Given the description of an element on the screen output the (x, y) to click on. 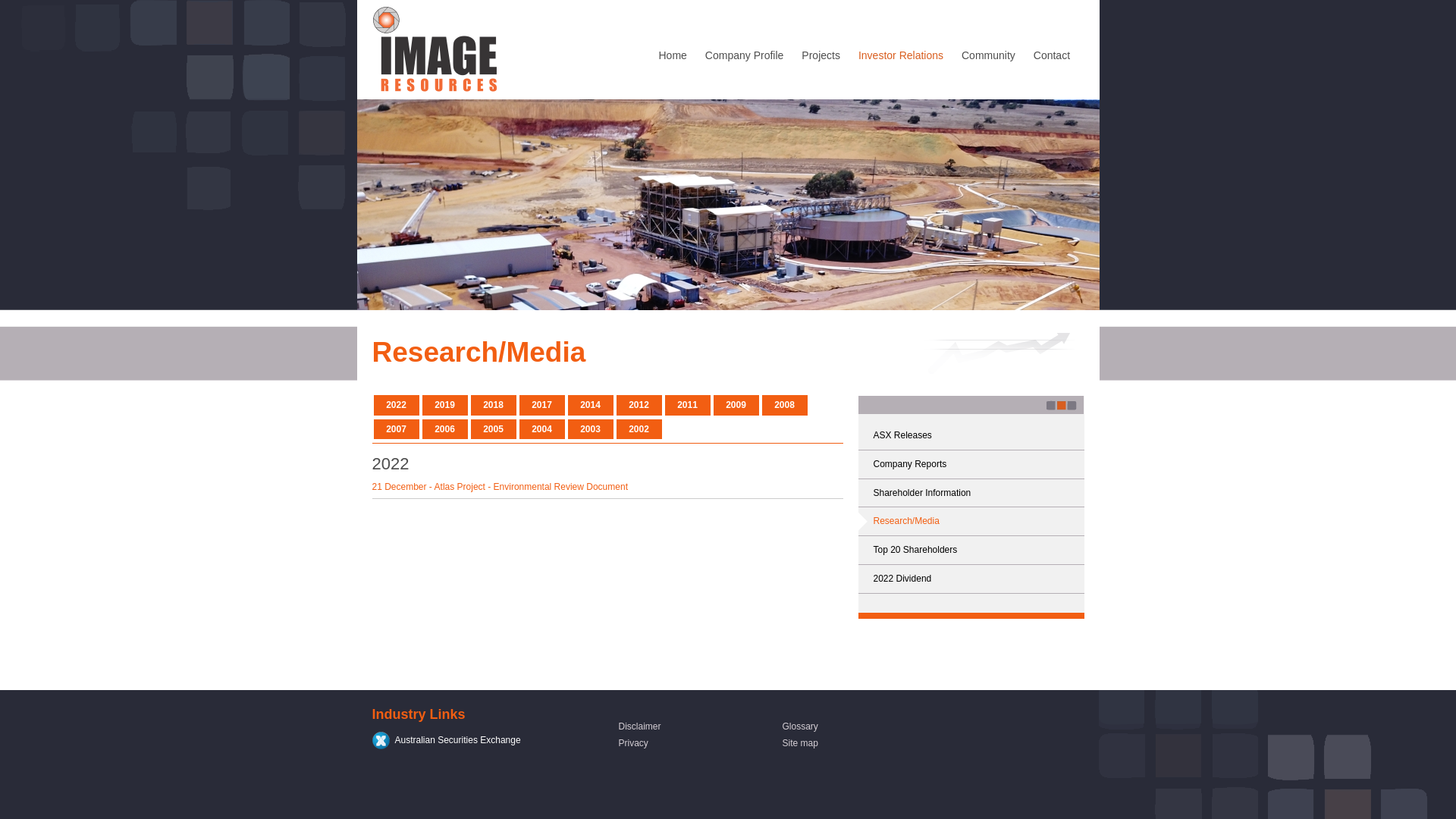
Australian Securities Exchange Element type: text (445, 740)
2004 Element type: text (541, 429)
Privacy Element type: text (633, 742)
Contact Element type: text (1051, 56)
2014 Element type: text (589, 405)
Research/Media Element type: text (971, 521)
Top 20 Shareholders Element type: text (971, 550)
2012 Element type: text (638, 405)
2017 Element type: text (541, 405)
Community Element type: text (988, 56)
Shareholder Information Element type: text (971, 493)
Projects Element type: text (820, 56)
2002 Element type: text (638, 429)
Company Reports Element type: text (971, 464)
2011 Element type: text (686, 405)
Company Profile Element type: text (744, 56)
2006 Element type: text (444, 429)
2005 Element type: text (492, 429)
Investor Relations Element type: text (900, 56)
2003 Element type: text (589, 429)
2008 Element type: text (783, 405)
2007 Element type: text (395, 429)
2022 Dividend Element type: text (971, 578)
Disclaimer Element type: text (639, 726)
2009 Element type: text (735, 405)
Image Resources Element type: text (502, 49)
Glossary Element type: text (800, 726)
21 December - Atlas Project - Environmental Review Document Element type: text (606, 489)
2019 Element type: text (444, 405)
Home Element type: text (672, 56)
2022 Element type: text (395, 405)
Site map Element type: text (800, 742)
2018 Element type: text (492, 405)
ASX Releases Element type: text (971, 435)
